Given the description of an element on the screen output the (x, y) to click on. 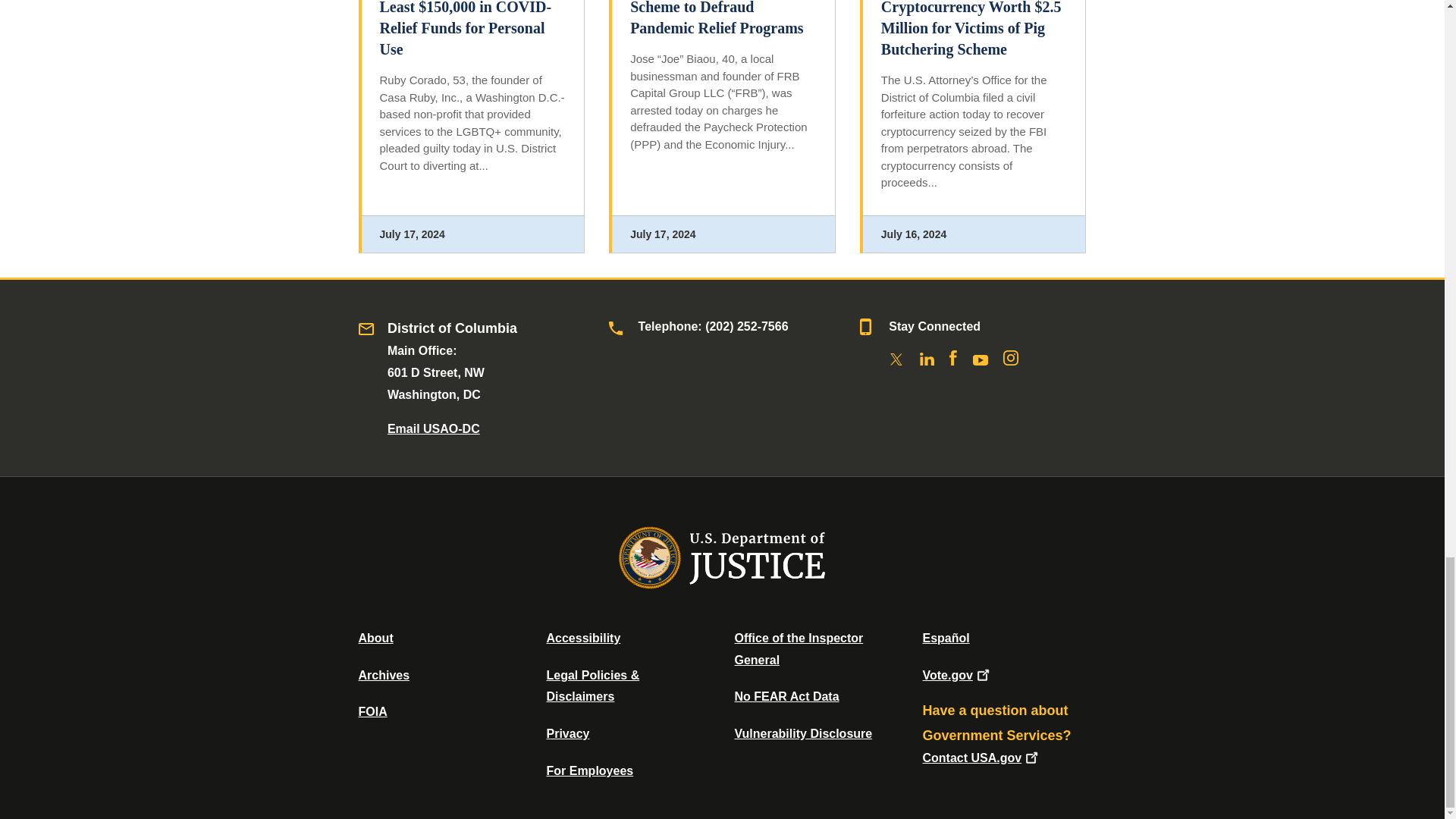
For Employees (589, 770)
Data Posted Pursuant To The No Fear Act (785, 696)
Office of Information Policy (372, 711)
Accessibility Statement (583, 637)
Legal Policies and Disclaimers (592, 686)
Department of Justice Archive (383, 675)
About DOJ (375, 637)
